Given the description of an element on the screen output the (x, y) to click on. 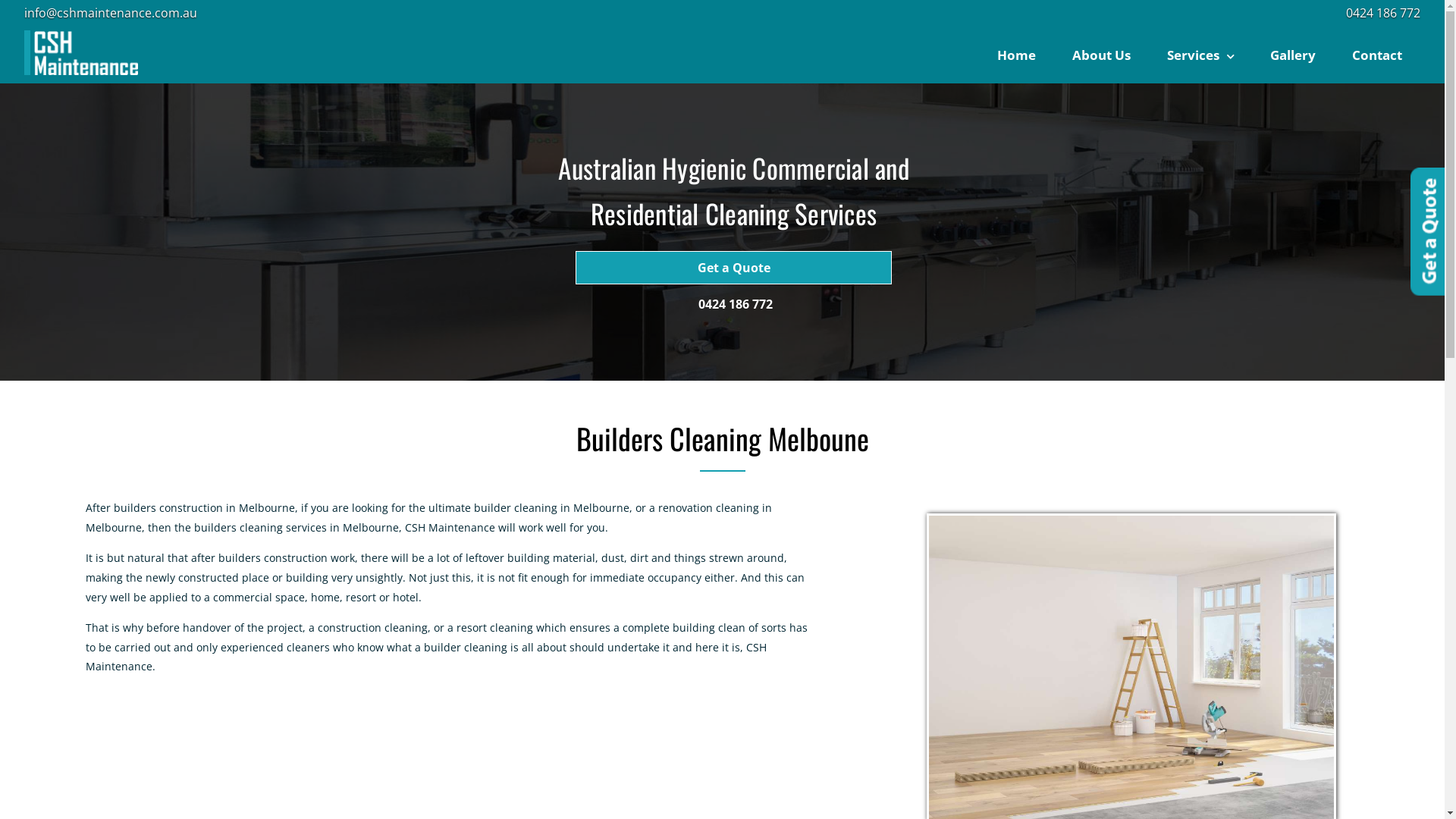
About Us Element type: text (1101, 54)
Services Element type: text (1200, 54)
info@cshmaintenance.com.au Element type: text (110, 12)
Home Element type: text (1016, 54)
0424 186 772 Element type: text (735, 296)
Gallery Element type: text (1292, 54)
Contact Element type: text (1376, 54)
Get a Quote Element type: text (733, 267)
0424 186 772 Element type: text (1383, 12)
